Given the description of an element on the screen output the (x, y) to click on. 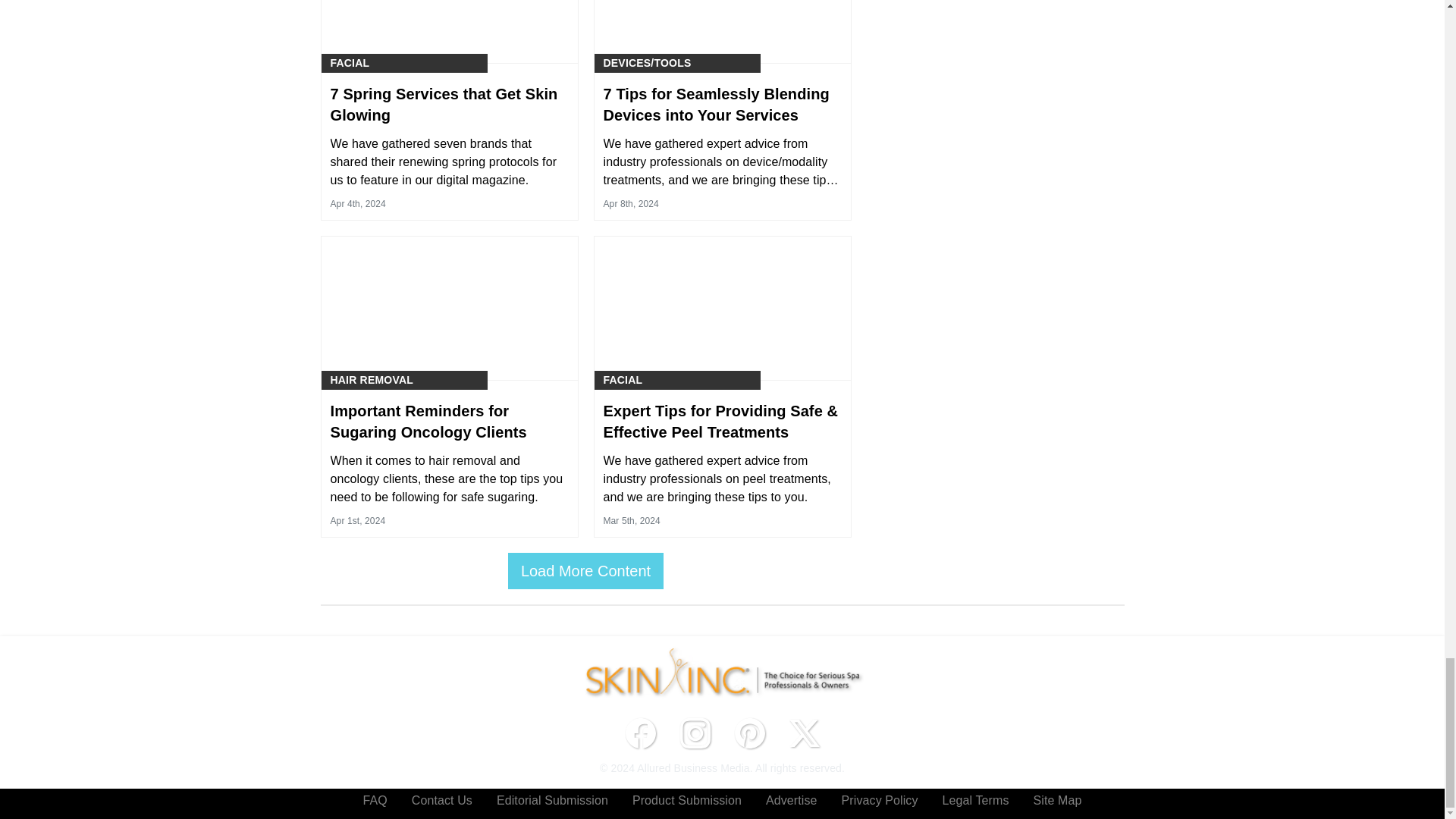
Instagram icon (694, 733)
Pinterest icon (748, 733)
Facebook icon (639, 733)
Twitter X icon (803, 733)
